Given the description of an element on the screen output the (x, y) to click on. 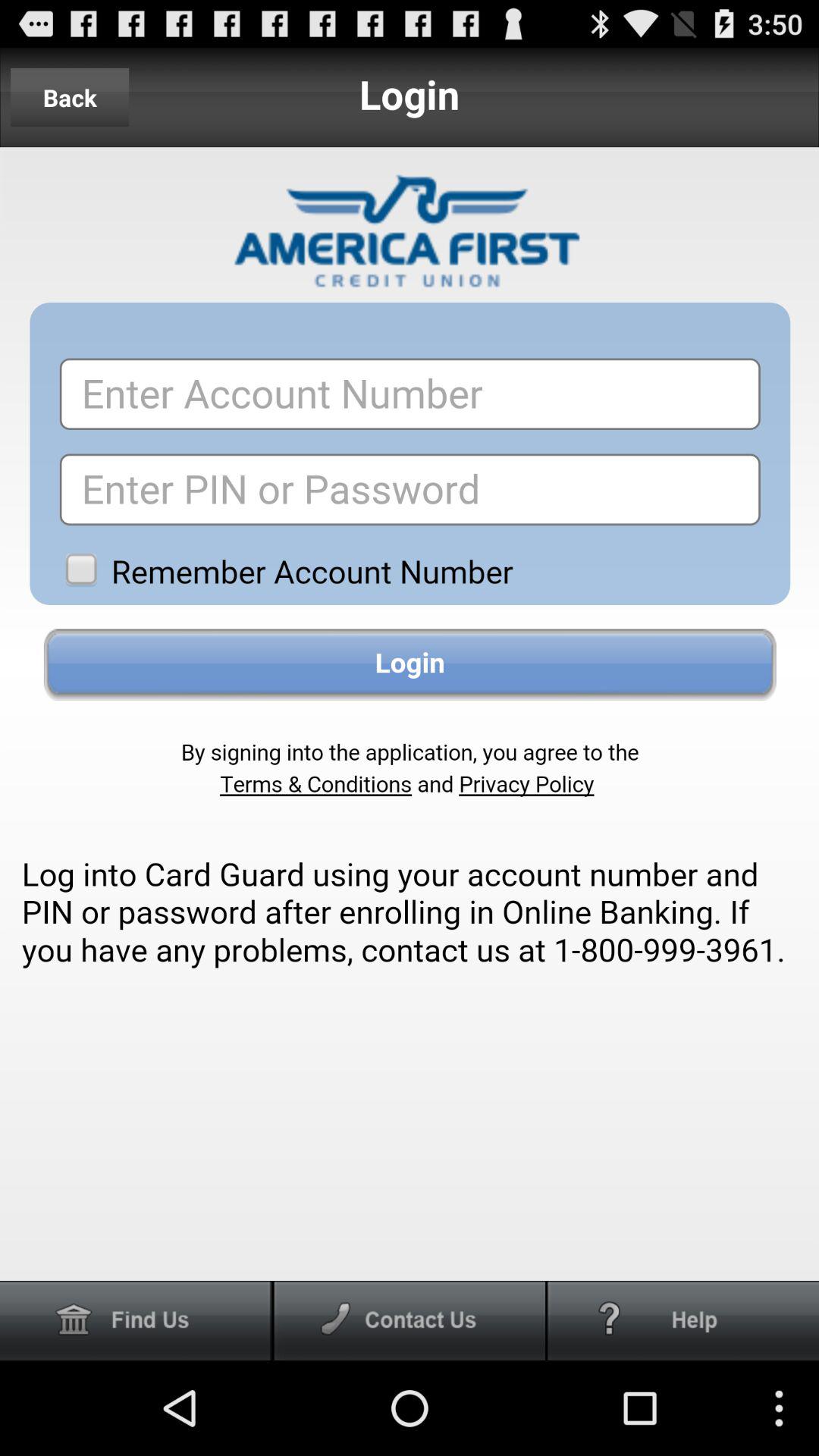
report button (683, 1320)
